Given the description of an element on the screen output the (x, y) to click on. 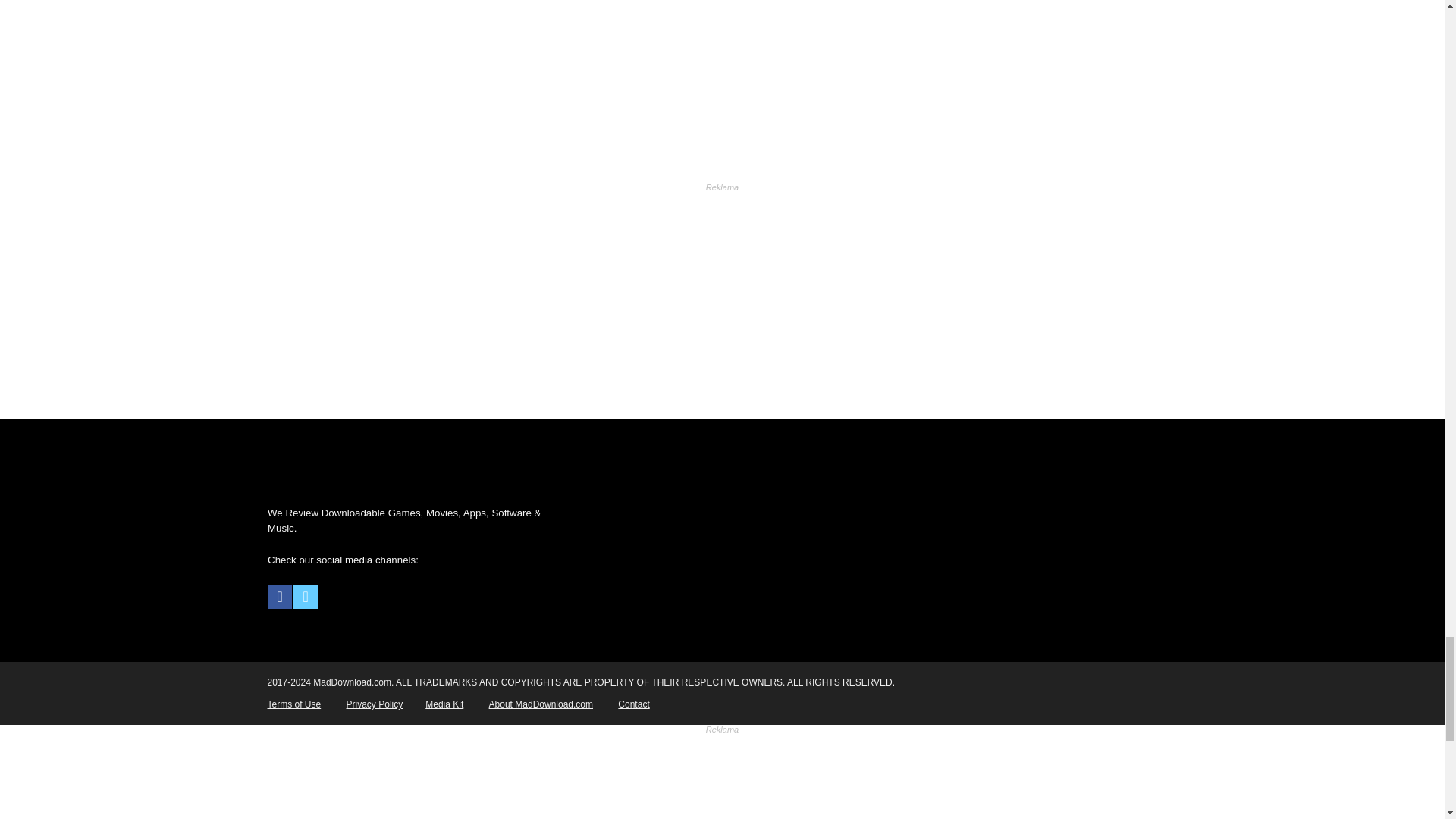
MadDownload Facebook Page (279, 596)
MadDownload Twitter Page (305, 596)
